Given the description of an element on the screen output the (x, y) to click on. 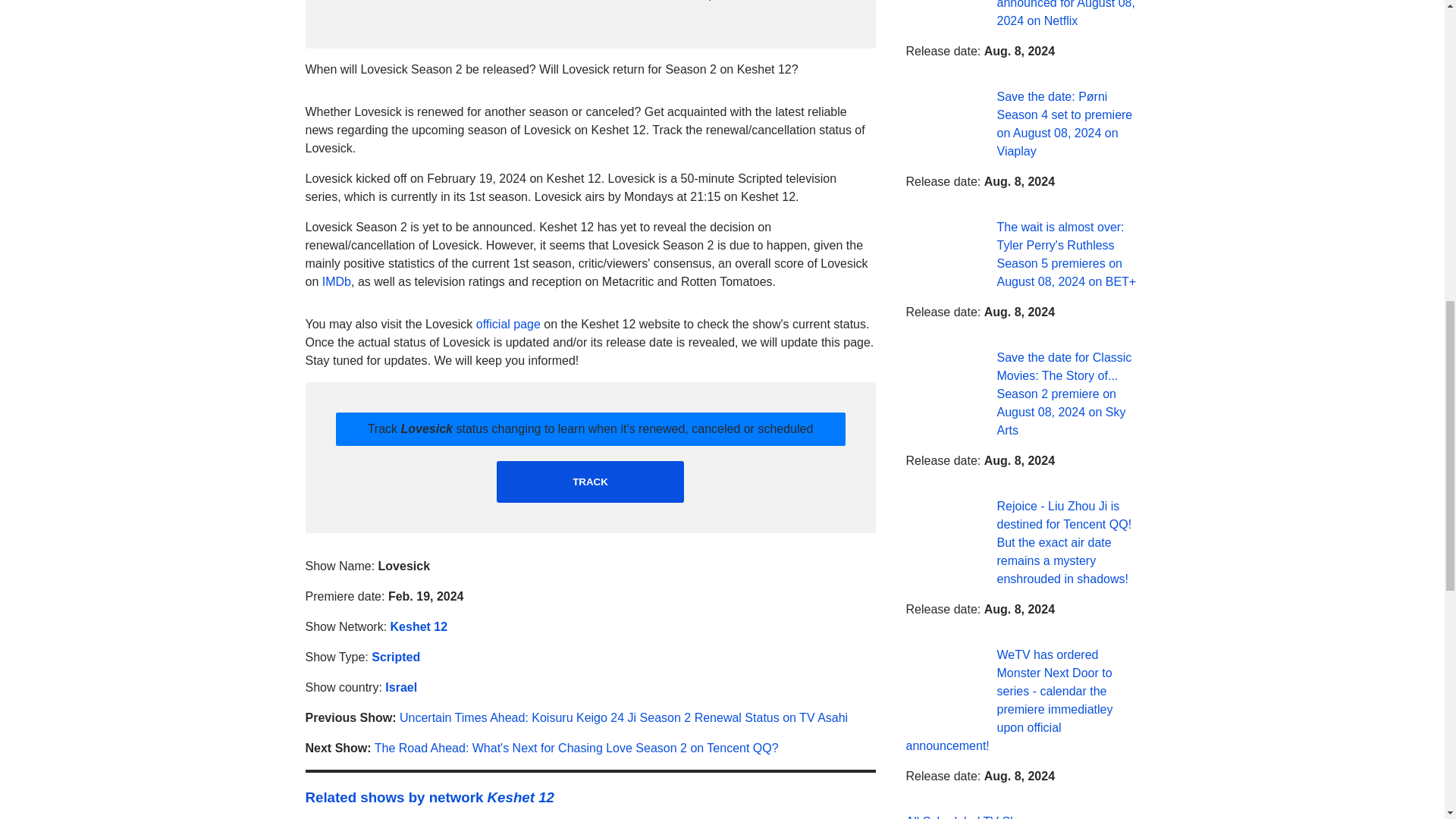
Scripted (395, 656)
official page (508, 323)
TRACK (590, 481)
Israel (400, 686)
IMDb (335, 281)
Keshet 12 (419, 626)
